Given the description of an element on the screen output the (x, y) to click on. 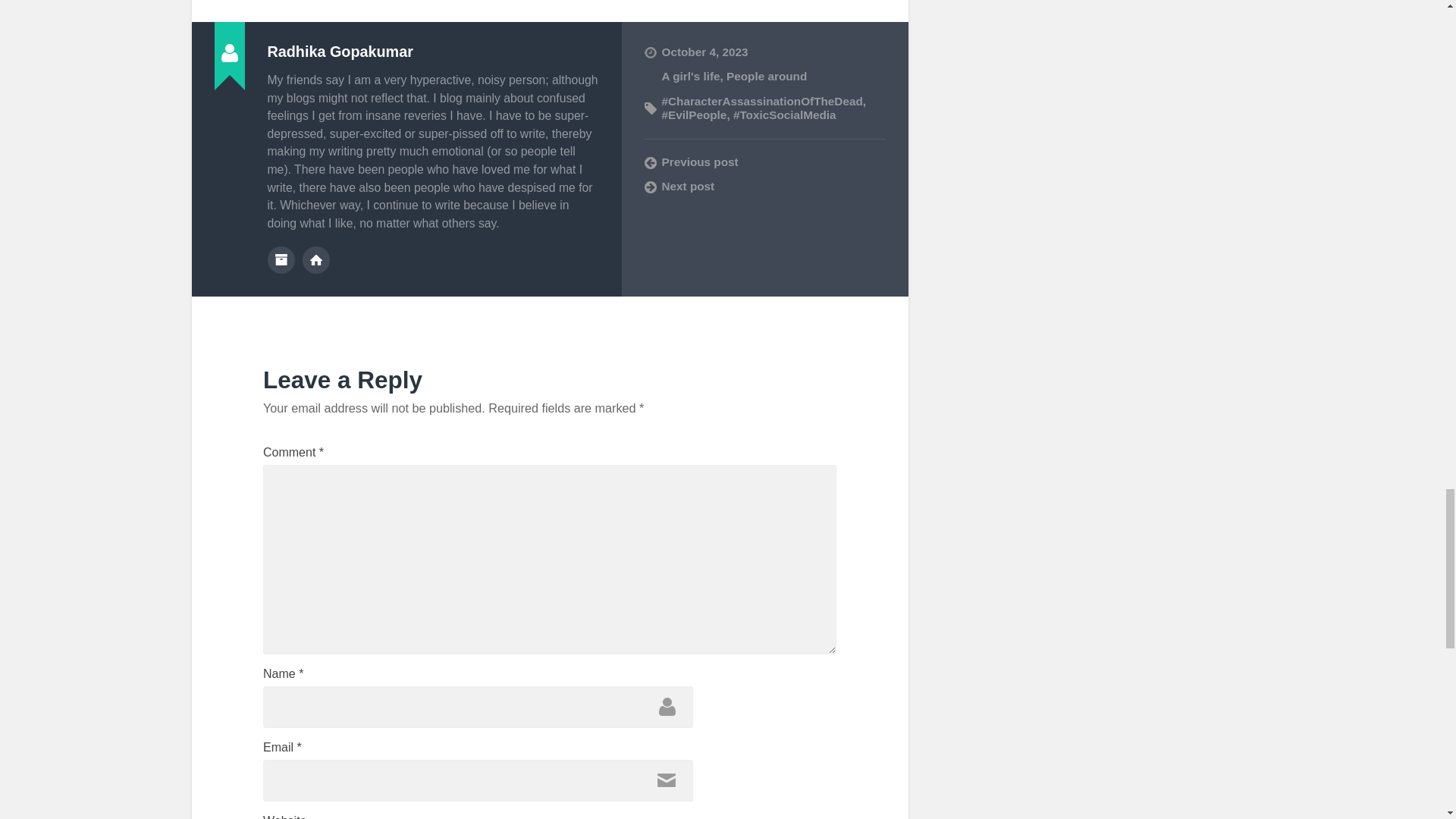
Previous post (765, 161)
Next post (765, 186)
Author website (316, 259)
A girl's life (690, 75)
Author archive (280, 259)
People around (766, 75)
